Given the description of an element on the screen output the (x, y) to click on. 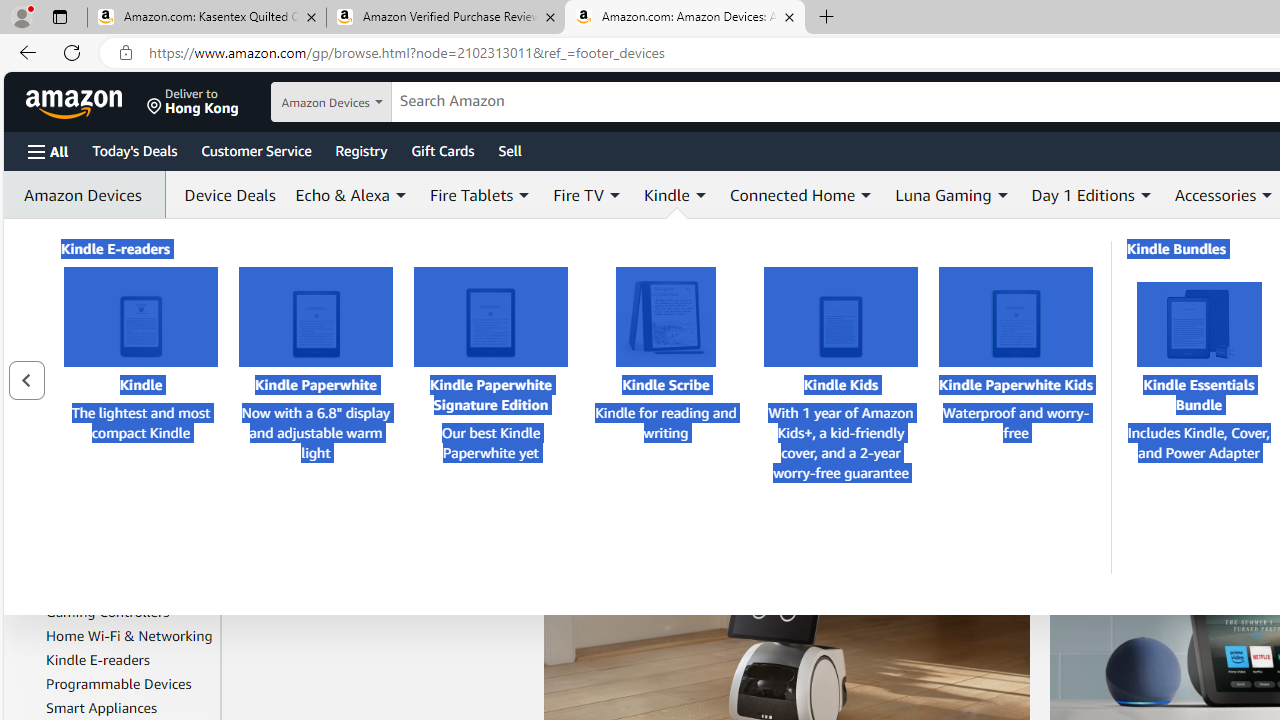
Amazon Verified Purchase Reviews - Amazon Customer Service (445, 17)
Accessories (1214, 194)
Unmute (575, 467)
Expand Luna Gaming (1002, 195)
Expand Echo & Alexa (400, 195)
Disable Closed Captions (963, 470)
Last 30 days (117, 272)
Expand Accessories (1267, 195)
Kindle Paperwhite KidsWaterproof and worry-free (1015, 416)
Smart Appliances (101, 708)
Echo & Alexa (352, 194)
